Given the description of an element on the screen output the (x, y) to click on. 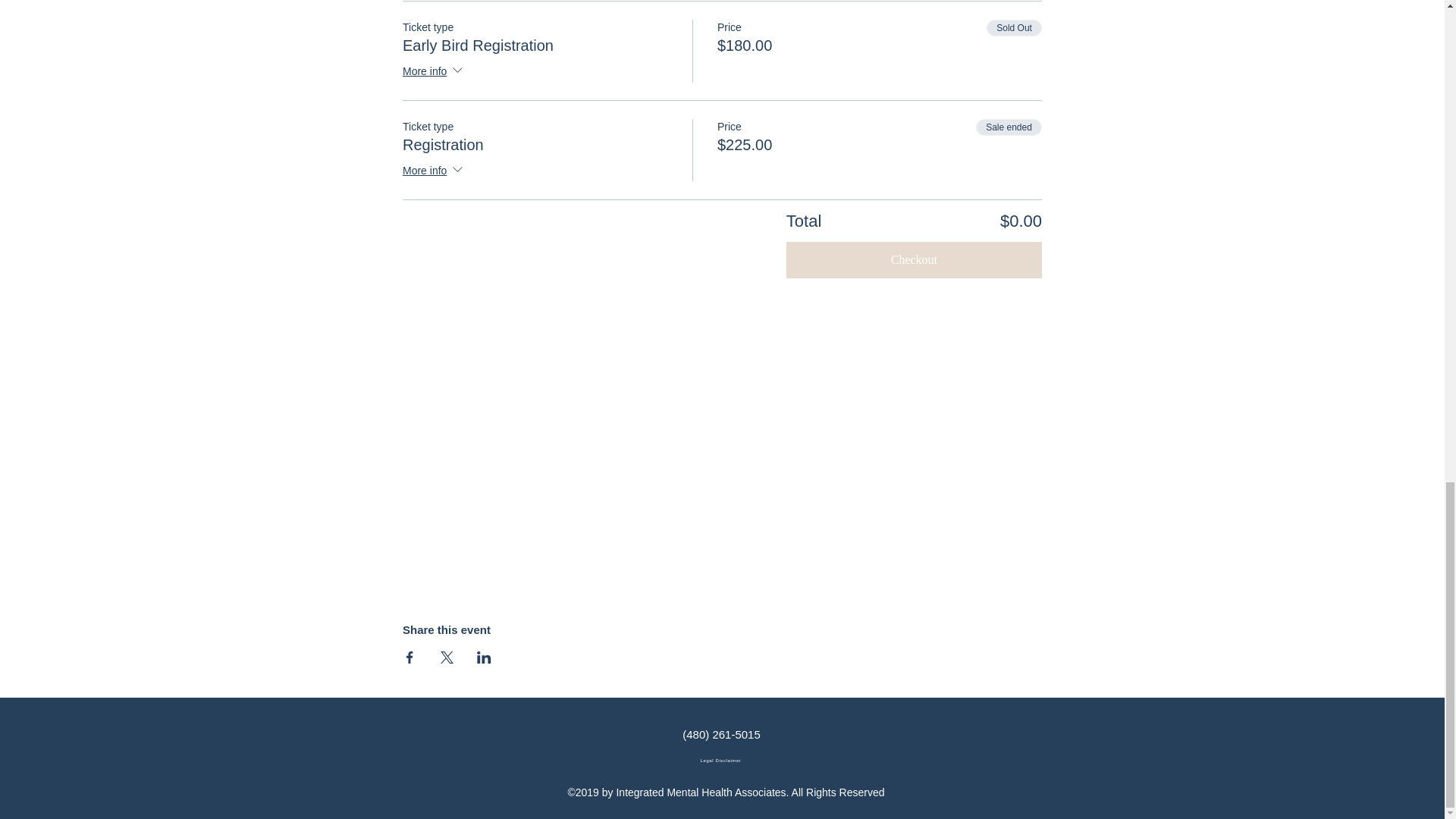
More info (434, 170)
Checkout (914, 259)
More info (434, 71)
Legal Disclaimer (722, 760)
